Given the description of an element on the screen output the (x, y) to click on. 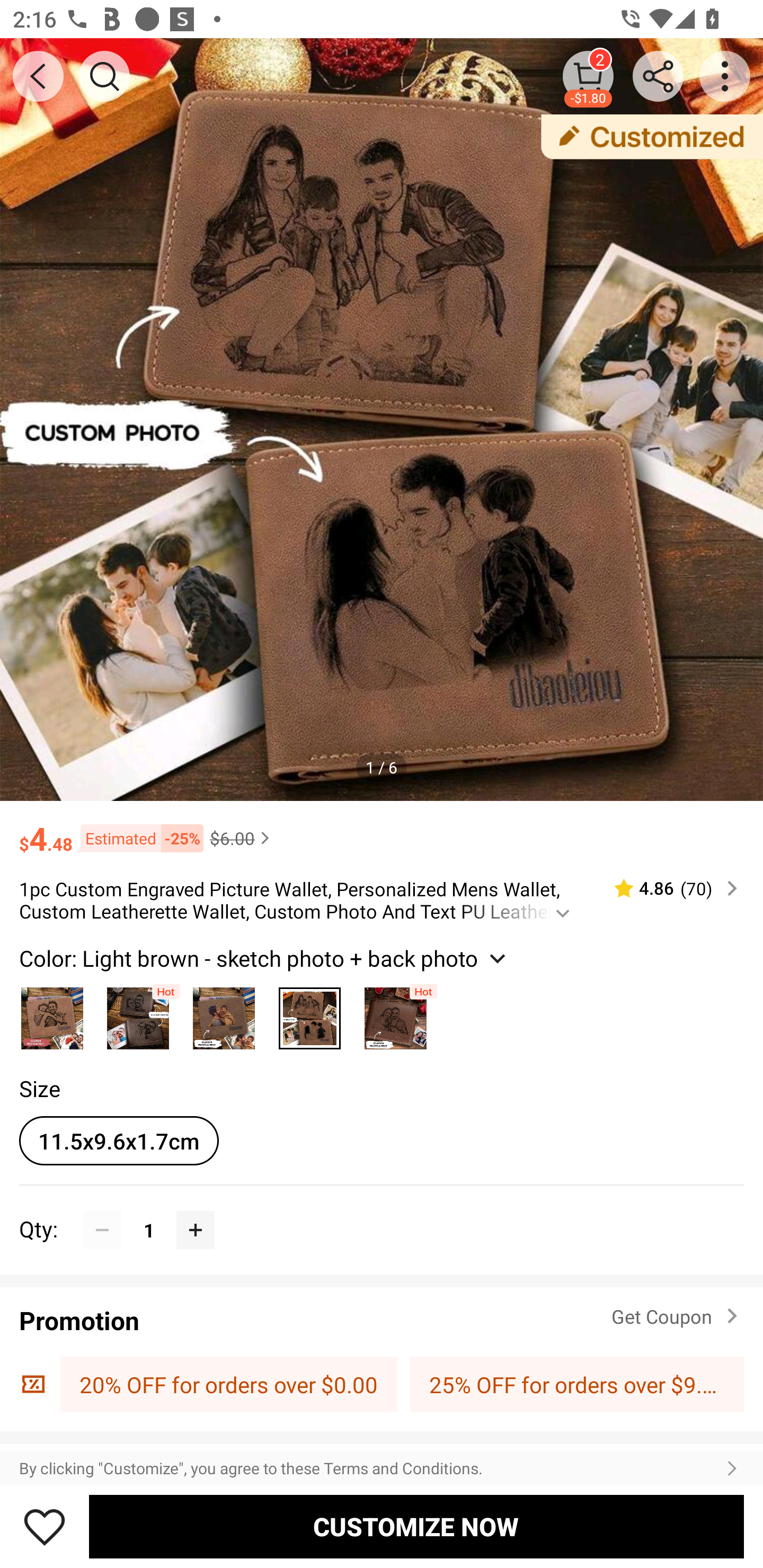
PHOTOS 1 / 6 (381, 419)
BACK (38, 75)
2 -$1.80 (588, 75)
1 / 6 (381, 766)
$4.48 Estimated -25% $6.00 (381, 830)
Estimated -25% (137, 838)
$6.00 (241, 837)
4.86 (70) (667, 887)
Color: Light brown - sketch photo + back photo (264, 957)
Brown - front photo + back photo (138, 1013)
Light brown - sketch photo + back photo (309, 1013)
Brown-front photo+Customized text on the back (395, 1013)
Size (39, 1087)
11.5x9.6x1.7cm 11.5x9.6x1.7cmselected option (118, 1140)
Qty: 1 (381, 1210)
Shipping to Hong Kong (381, 1457)
CUSTOMIZE NOW (416, 1526)
Save (44, 1526)
